Given the description of an element on the screen output the (x, y) to click on. 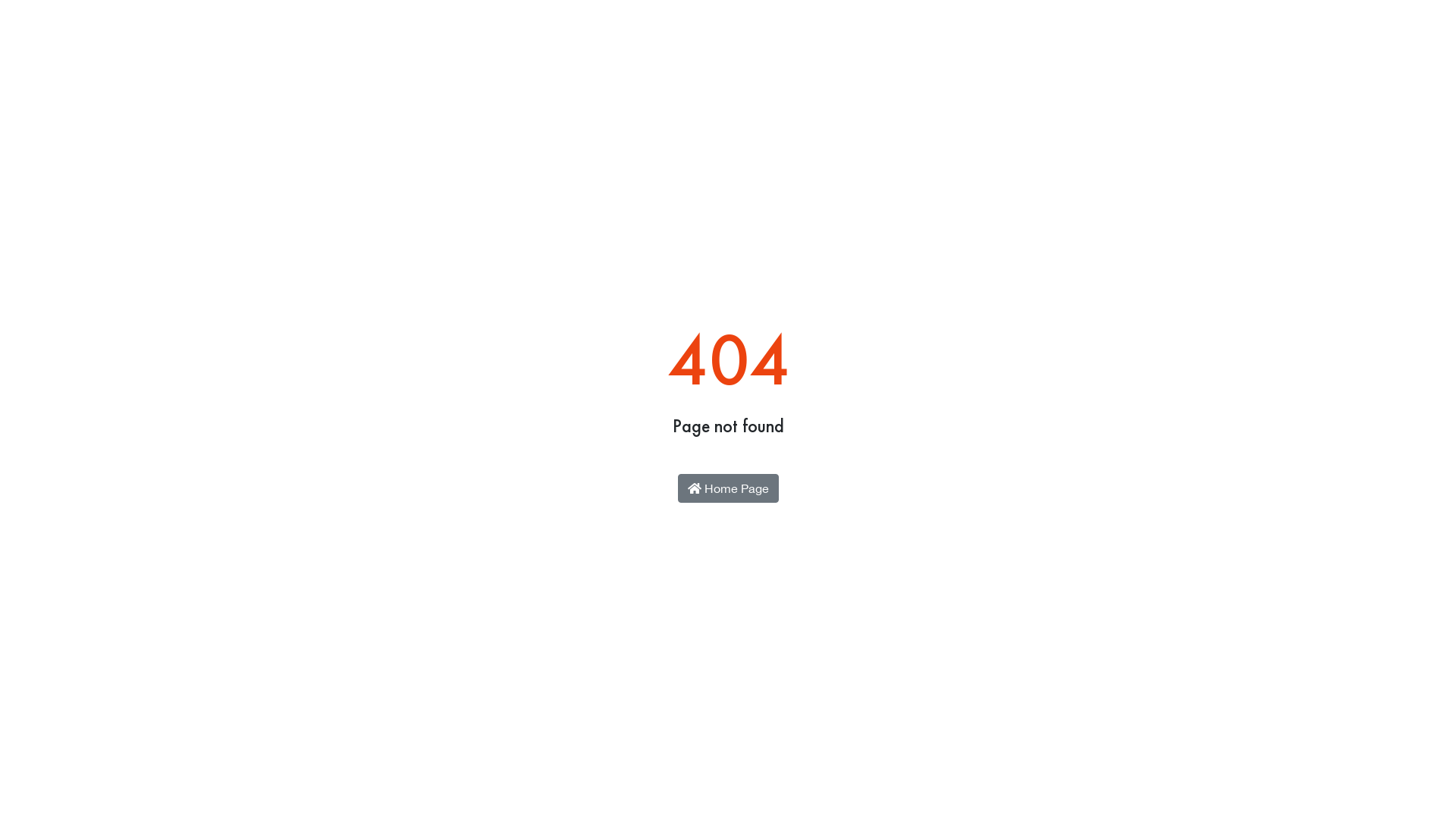
Home Page Element type: text (727, 487)
